Given the description of an element on the screen output the (x, y) to click on. 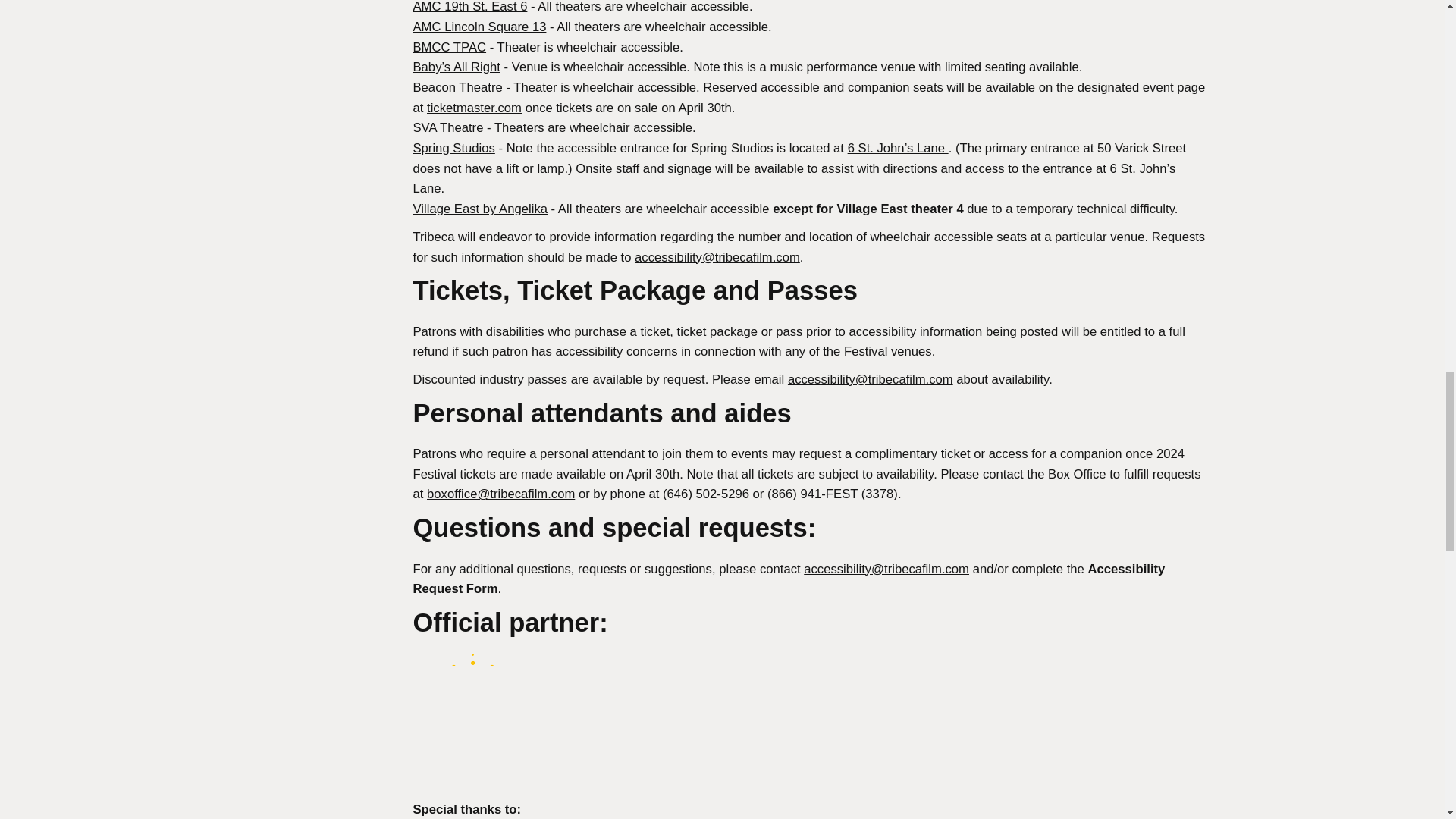
AMC Lincoln Square 13 (479, 26)
AMC 19th St. East 6 (469, 6)
BMCC TPAC (449, 47)
